Given the description of an element on the screen output the (x, y) to click on. 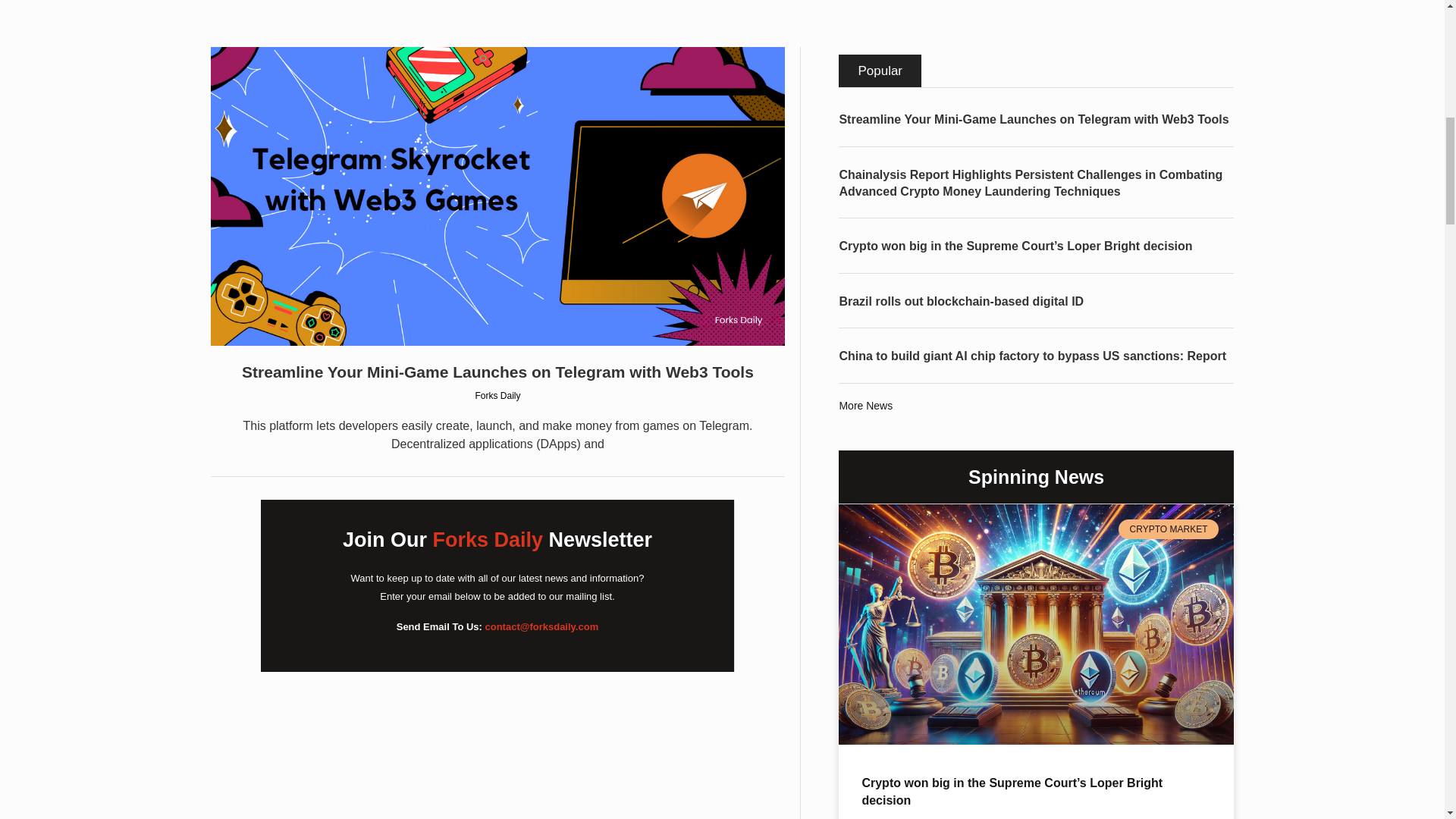
Popular (879, 70)
Brazil rolls out blockchain-based digital ID (960, 300)
Forksdaily 6 (1032, 622)
More News (865, 405)
